Given the description of an element on the screen output the (x, y) to click on. 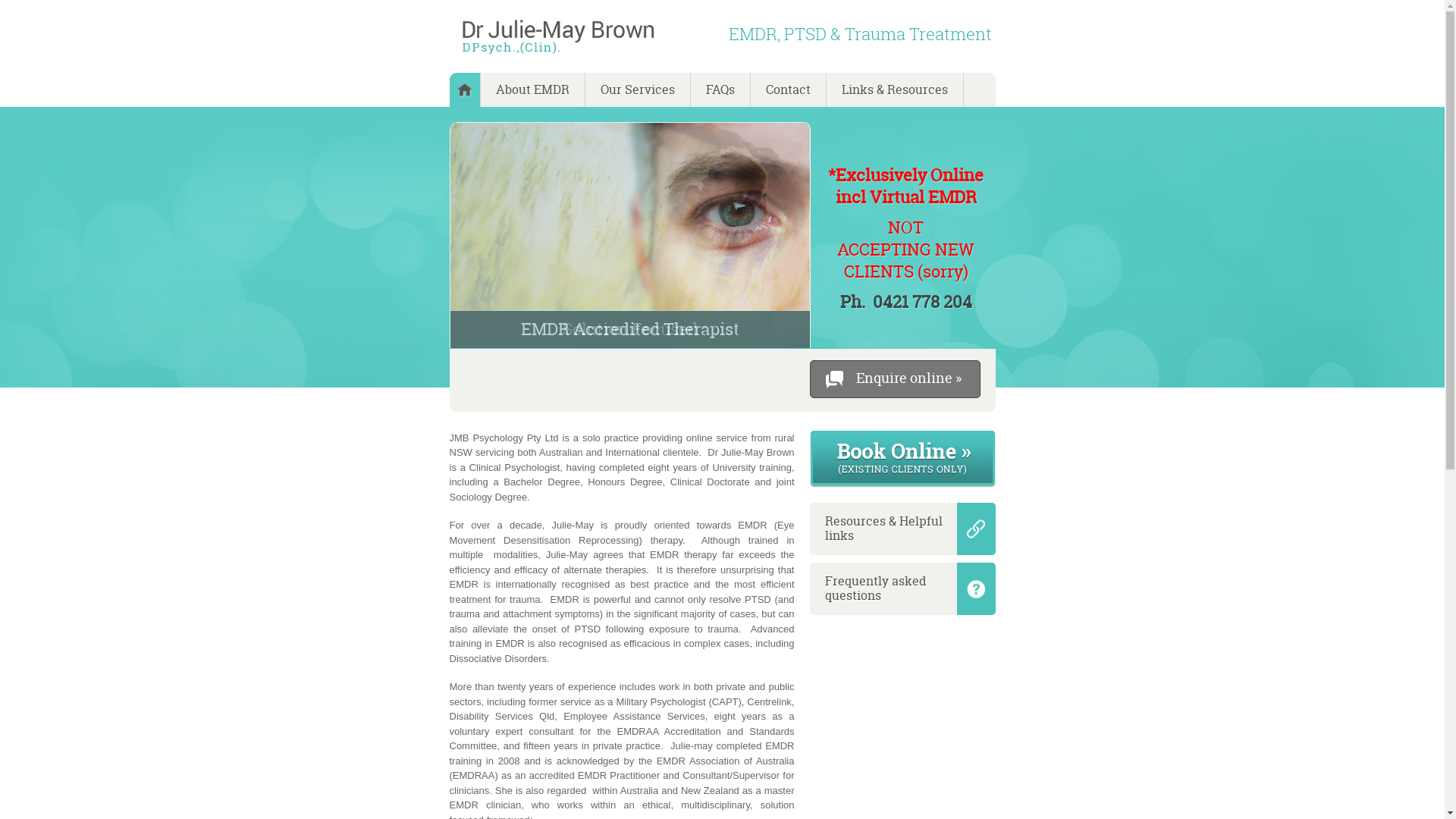
Dr Julie-May Brown  DPsych.,(Clin). Element type: hover (556, 36)
Frequently asked questions Element type: text (902, 588)
About Dr Julie-May Brown Element type: text (464, 89)
FAQs Element type: text (719, 89)
About EMDR Element type: text (532, 89)
Our Services Element type: text (637, 89)
Contact Element type: text (788, 89)
Book Online - Existing Clients Only Element type: hover (902, 499)
Links & Resources Element type: text (894, 89)
Resources & Helpful links Element type: text (902, 528)
